Given the description of an element on the screen output the (x, y) to click on. 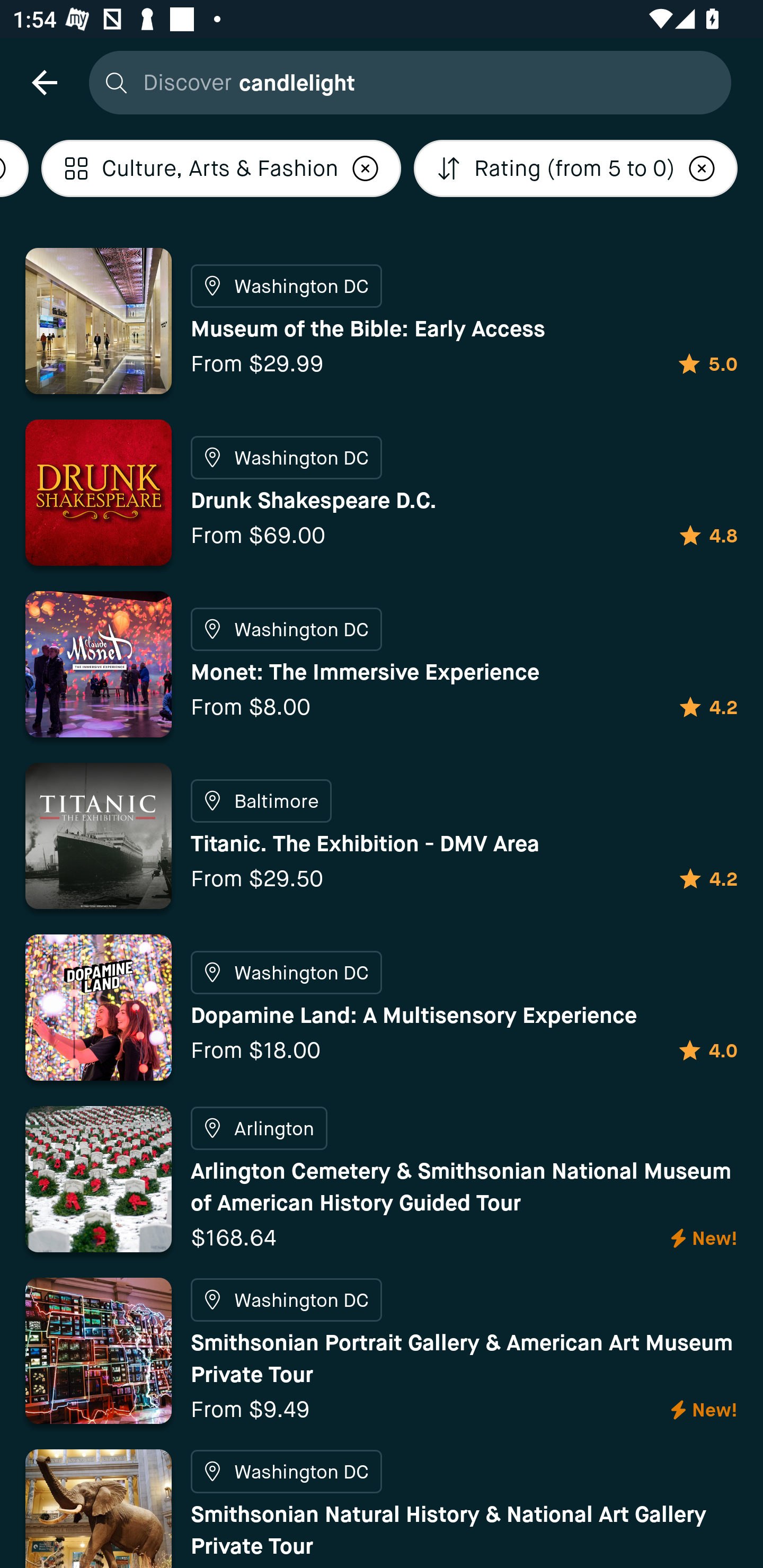
navigation icon (44, 81)
Discover candlelight (405, 81)
Localized description (365, 168)
Localized description (701, 168)
